Given the description of an element on the screen output the (x, y) to click on. 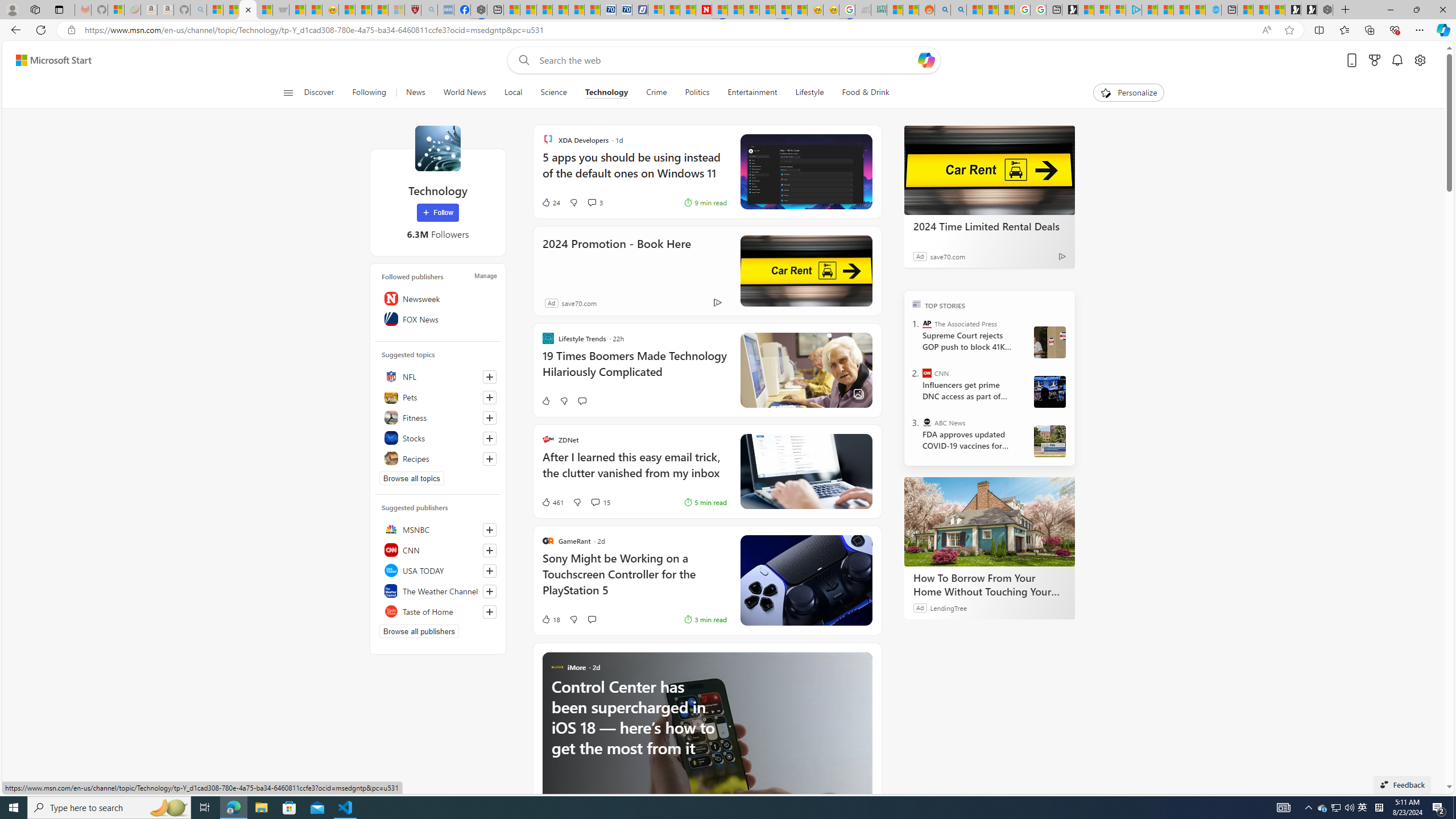
 ATS_2336.jpg (1049, 391)
